Given the description of an element on the screen output the (x, y) to click on. 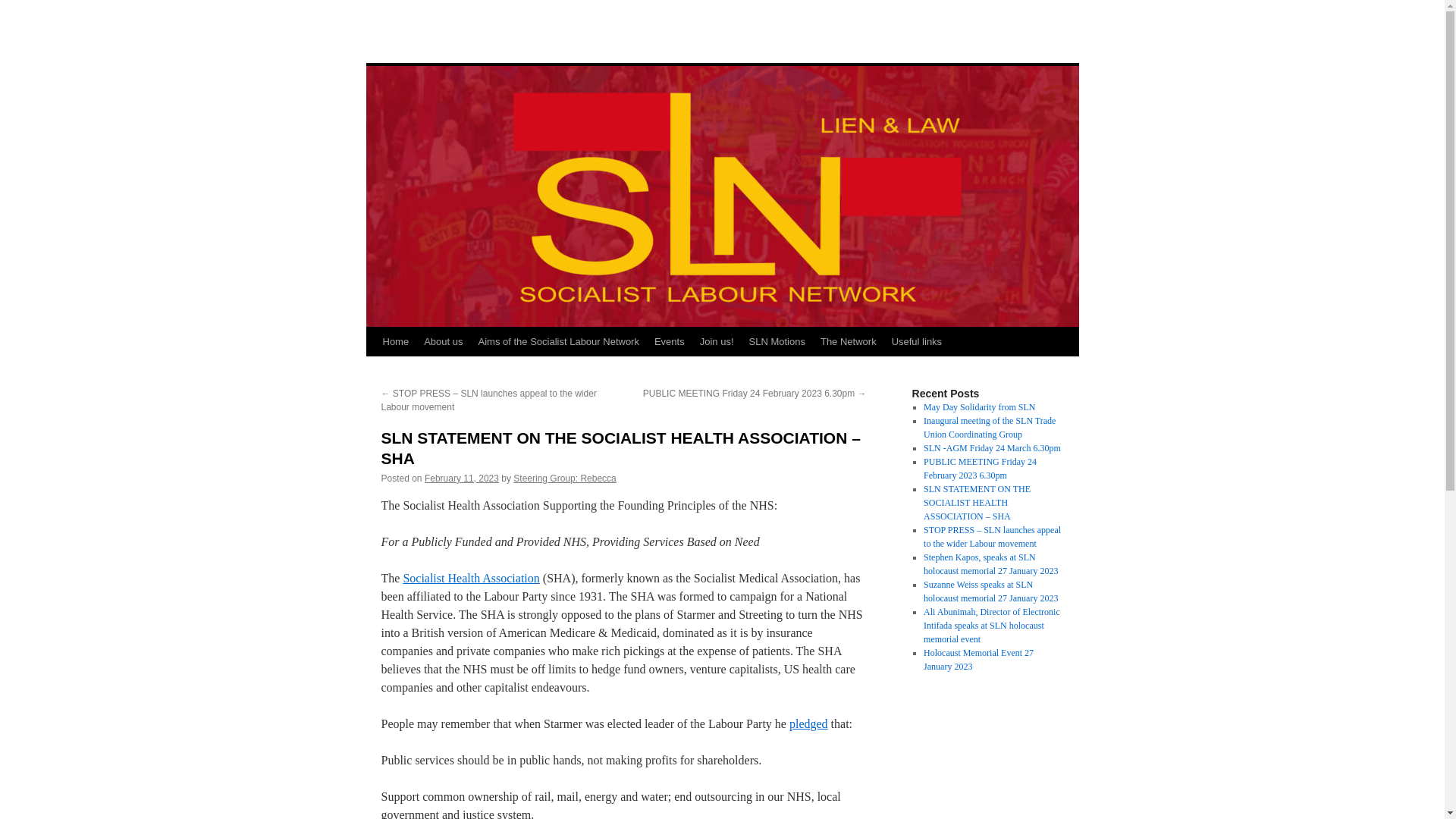
Home (395, 341)
PUBLIC MEETING Friday 24 February 2023 6.30pm (979, 468)
4:36 pm (462, 478)
Inaugural meeting of the SLN Trade Union Coordinating Group (989, 427)
About us (443, 341)
The Network (847, 341)
Socialist Health Association (470, 577)
Join us! (717, 341)
May Day Solidarity from SLN (979, 407)
SLN -AGM Friday 24 March 6.30pm (992, 448)
Aims of the Socialist Labour Network (558, 341)
Events (669, 341)
February 11, 2023 (462, 478)
